Given the description of an element on the screen output the (x, y) to click on. 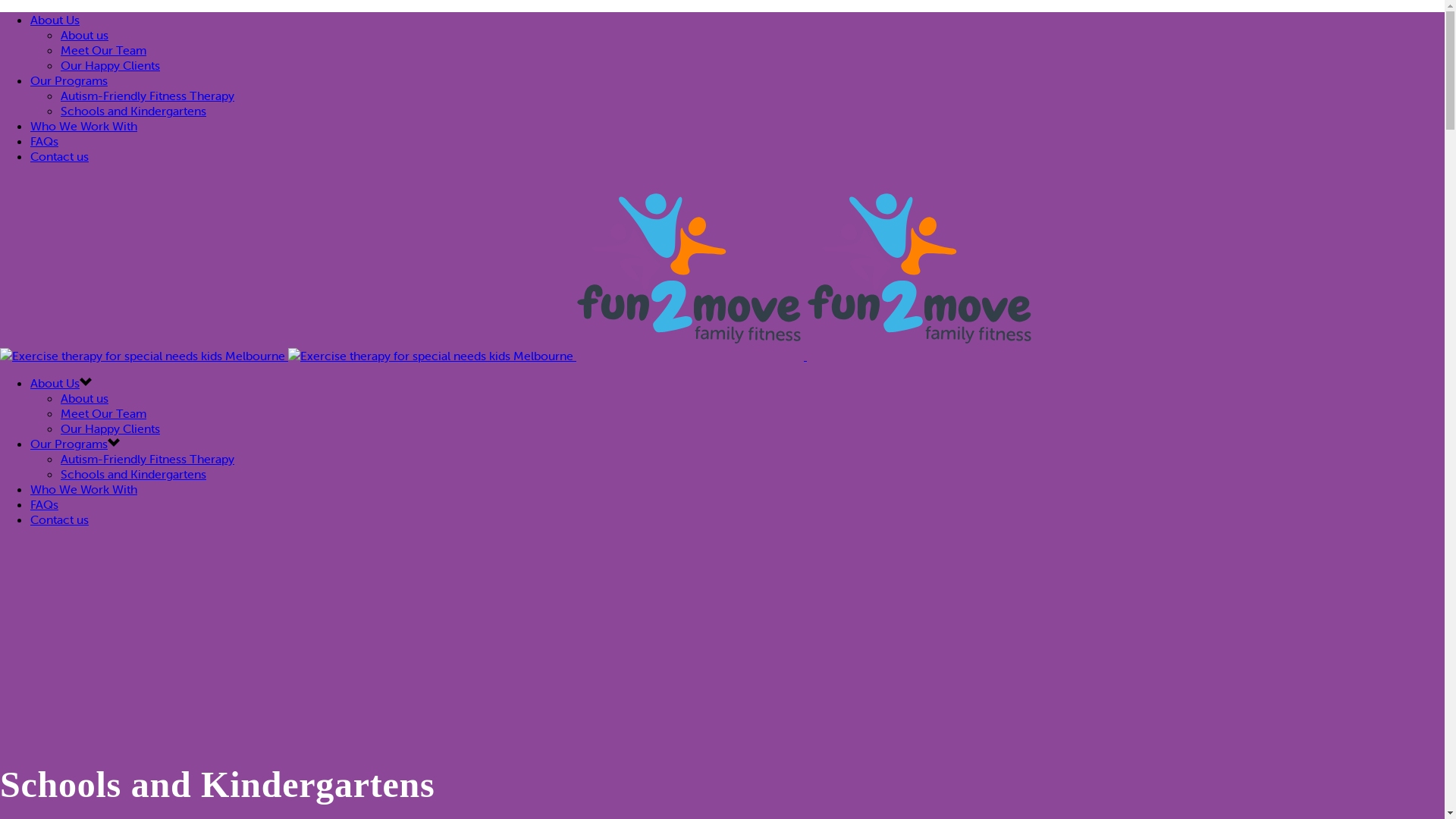
FAQs Element type: text (44, 140)
Contact us Element type: text (59, 155)
Exercise therapy for special needs kids Melbourne Element type: hover (142, 355)
Fun2Move Element type: hover (517, 355)
About Us Element type: text (54, 382)
Exercise therapy for special needs kids Melbourne Element type: hover (430, 355)
Autism-Friendly Fitness Therapy Element type: text (147, 95)
About us Element type: text (84, 397)
About Us Element type: text (54, 19)
Exercise therapy for special needs kids Melbourne Element type: hover (920, 267)
Our Programs Element type: text (68, 443)
Who We Work With Element type: text (83, 125)
Contact us Element type: text (59, 519)
Meet Our Team Element type: text (103, 49)
Our Programs Element type: text (68, 79)
Autism-Friendly Fitness Therapy Element type: text (147, 458)
Meet Our Team Element type: text (103, 412)
Our Happy Clients Element type: text (110, 64)
Who We Work With Element type: text (83, 488)
Exercise therapy for special needs kids Melbourne Element type: hover (689, 267)
About us Element type: text (84, 34)
Schools and Kindergartens Element type: text (133, 473)
Schools and Kindergartens Element type: text (133, 110)
FAQs Element type: text (44, 503)
Our Happy Clients Element type: text (110, 428)
